Given the description of an element on the screen output the (x, y) to click on. 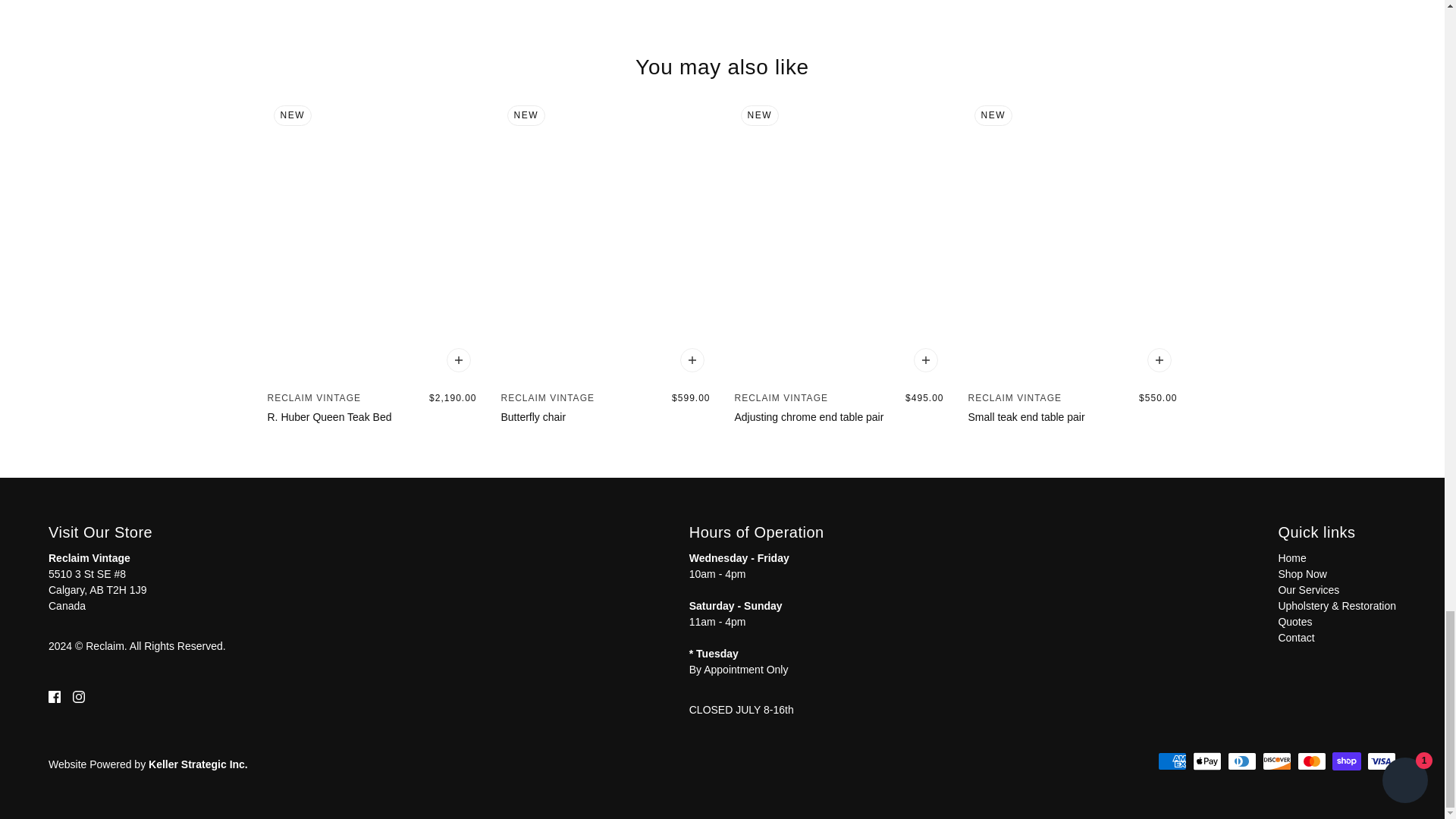
Contact (1296, 637)
American Express (1171, 761)
Discover (1276, 761)
Quotes (1294, 621)
Mastercard (1311, 761)
Shop Pay (1346, 761)
Apple Pay (1206, 761)
Our Services (1308, 589)
Home (1292, 558)
Diners Club (1241, 761)
Visa (1381, 761)
Shop Now (1302, 573)
